Given the description of an element on the screen output the (x, y) to click on. 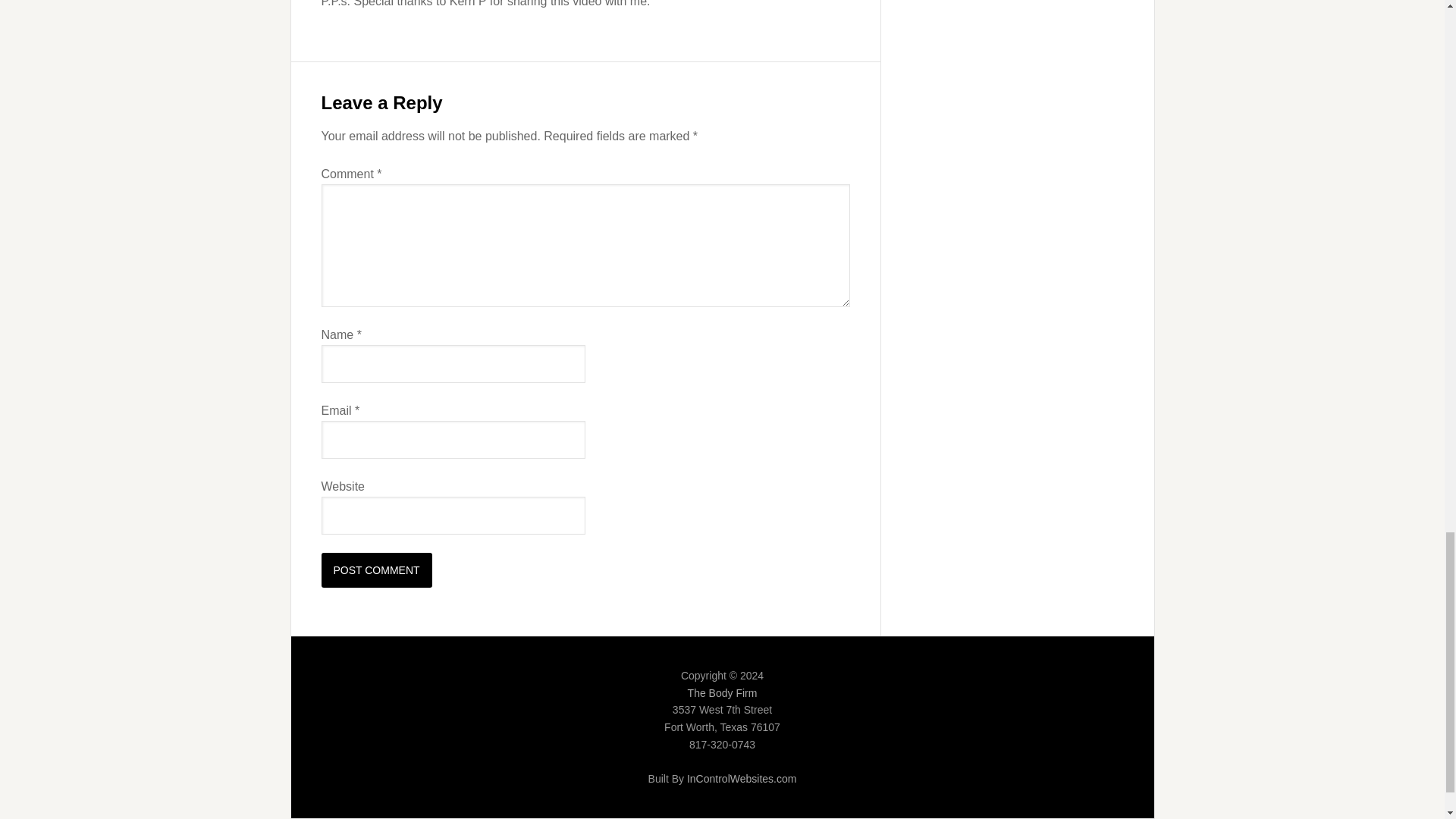
The Body Firm (722, 693)
Post Comment (376, 570)
InControlWebsites.com (741, 778)
Post Comment (376, 570)
